Given the description of an element on the screen output the (x, y) to click on. 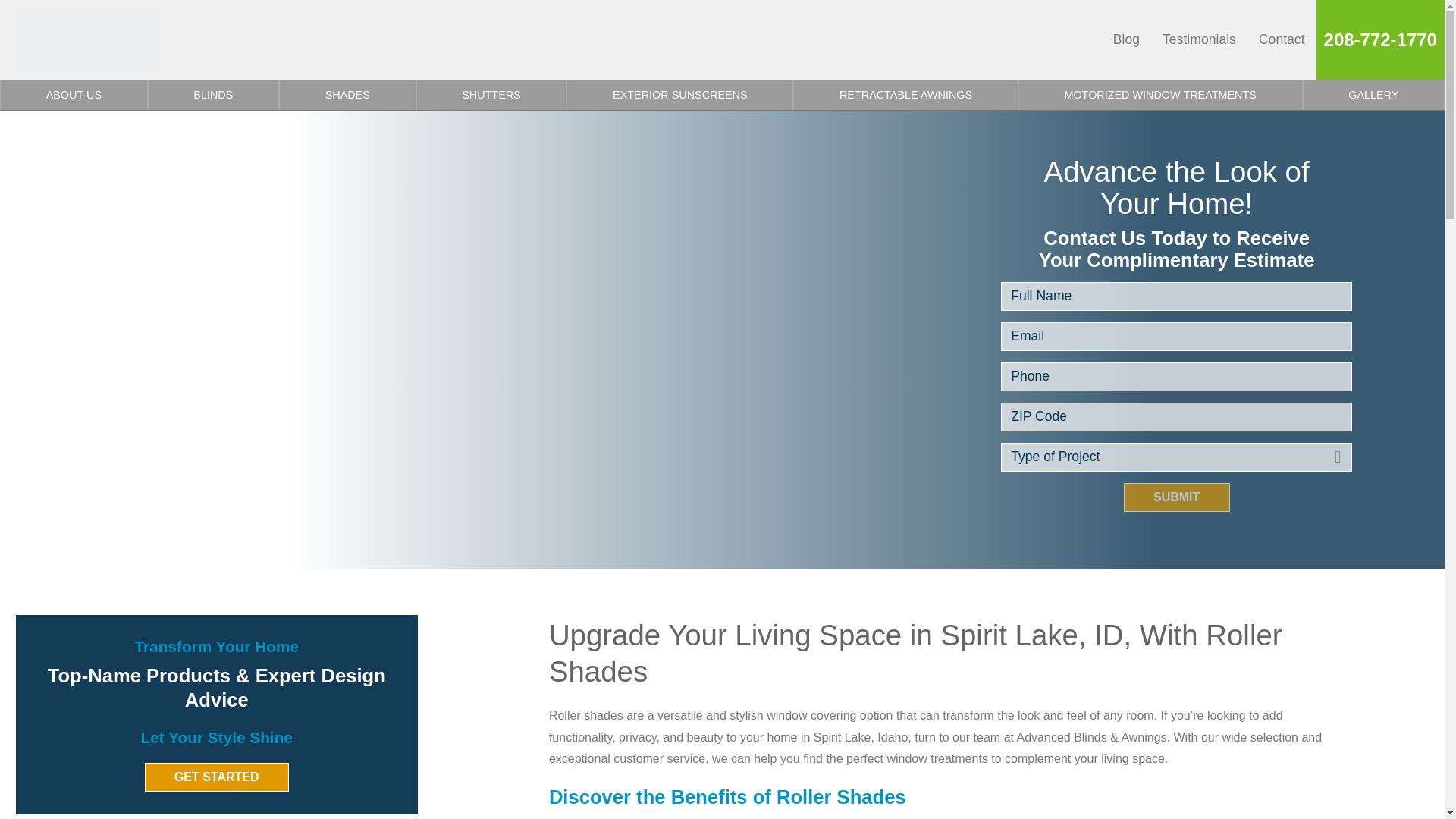
ABOUT US (74, 94)
BLINDS (213, 94)
SHUTTERS (491, 94)
Contact (1281, 40)
SHADES (347, 94)
EXTERIOR SUNSCREENS (679, 94)
Blog (1126, 40)
MOTORIZED WINDOW TREATMENTS (1160, 94)
GET STARTED (216, 776)
SUBMIT (1177, 497)
